Given the description of an element on the screen output the (x, y) to click on. 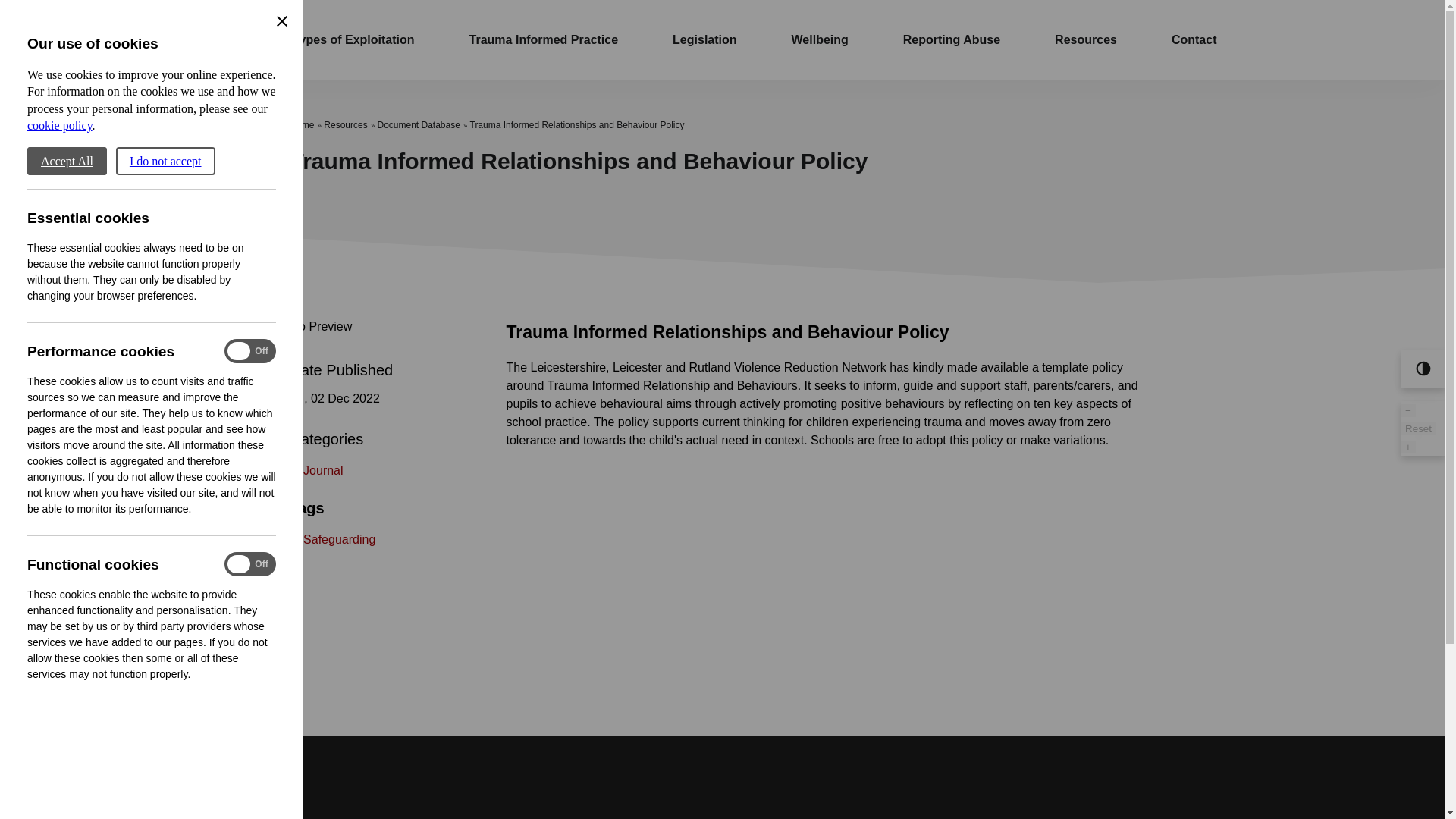
Accept All (66, 161)
Trauma Informed Practice (543, 40)
Legislation (704, 40)
cookie policy (60, 124)
Types of Exploitation (353, 40)
Reporting Abuse (951, 40)
Harm Outside The Home (228, 39)
Wellbeing (819, 40)
I do not accept (165, 161)
Reset (1417, 428)
